Given the description of an element on the screen output the (x, y) to click on. 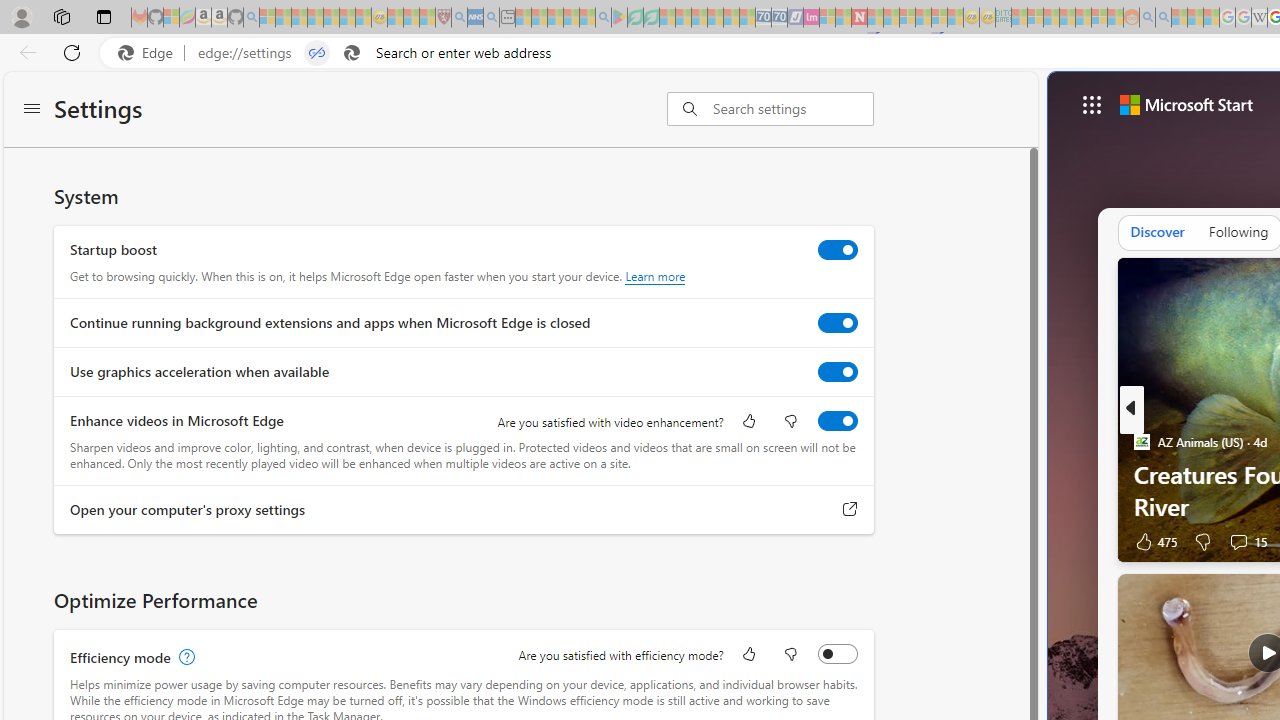
Search icon (351, 53)
Open your computer's proxy settings (849, 509)
Use graphics acceleration when available (837, 372)
Kinda Frugal - MSN - Sleeping (1083, 17)
AZ Animals (US) (1140, 442)
